Given the description of an element on the screen output the (x, y) to click on. 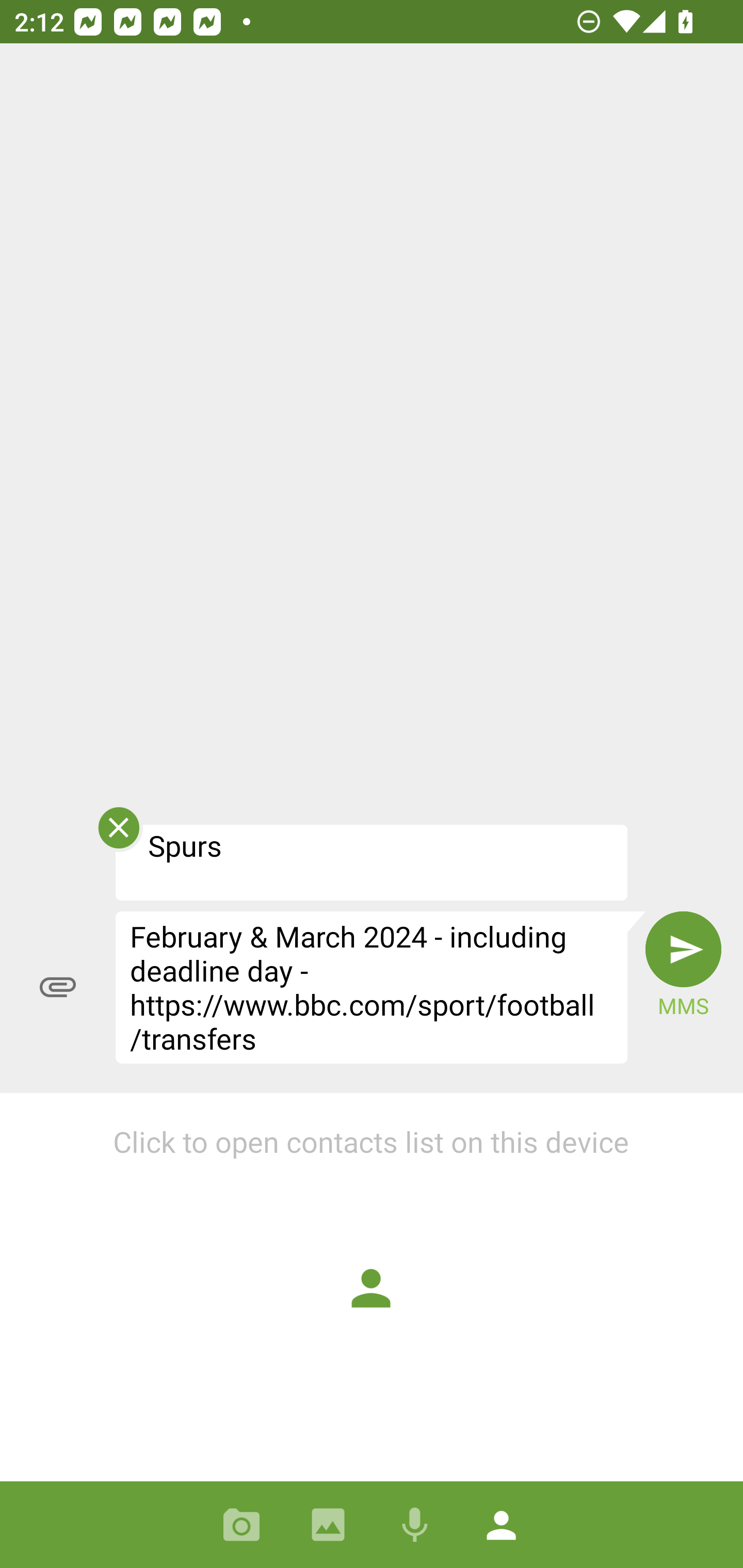
Delete subject (117, 833)
Spurs
 (371, 862)
Add an attachment (57, 987)
Click to open contacts list on this device (371, 1286)
Capture pictures or video (241, 1524)
Choose images from this device (327, 1524)
Record audio (414, 1524)
Choose a contact from this device (501, 1524)
